Given the description of an element on the screen output the (x, y) to click on. 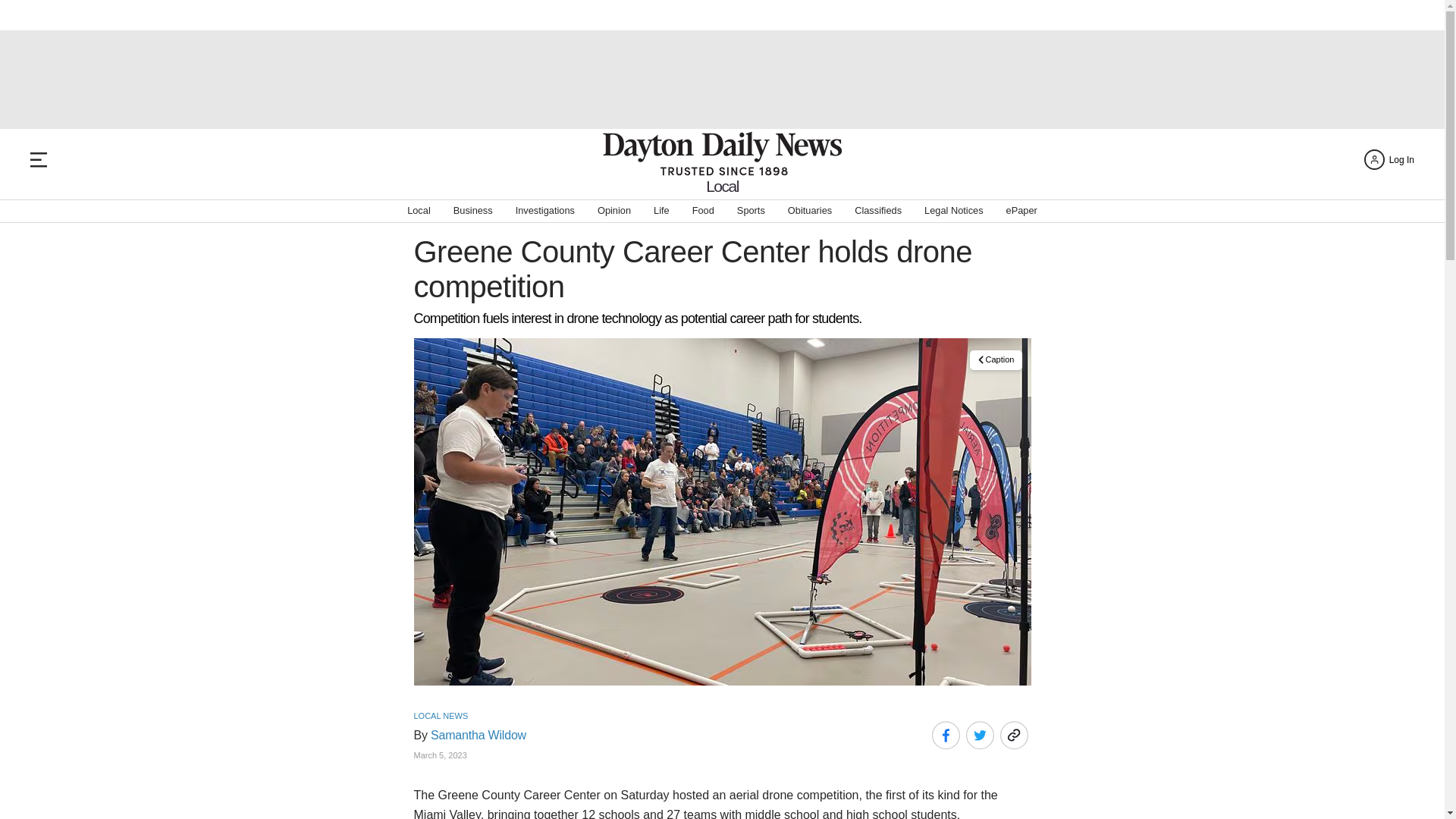
ePaper (1021, 210)
Local (418, 210)
Legal Notices (954, 210)
Classifieds (877, 210)
Opinion (613, 210)
Business (472, 210)
Investigations (545, 210)
Obituaries (809, 210)
Sports (750, 210)
Local (722, 186)
